Given the description of an element on the screen output the (x, y) to click on. 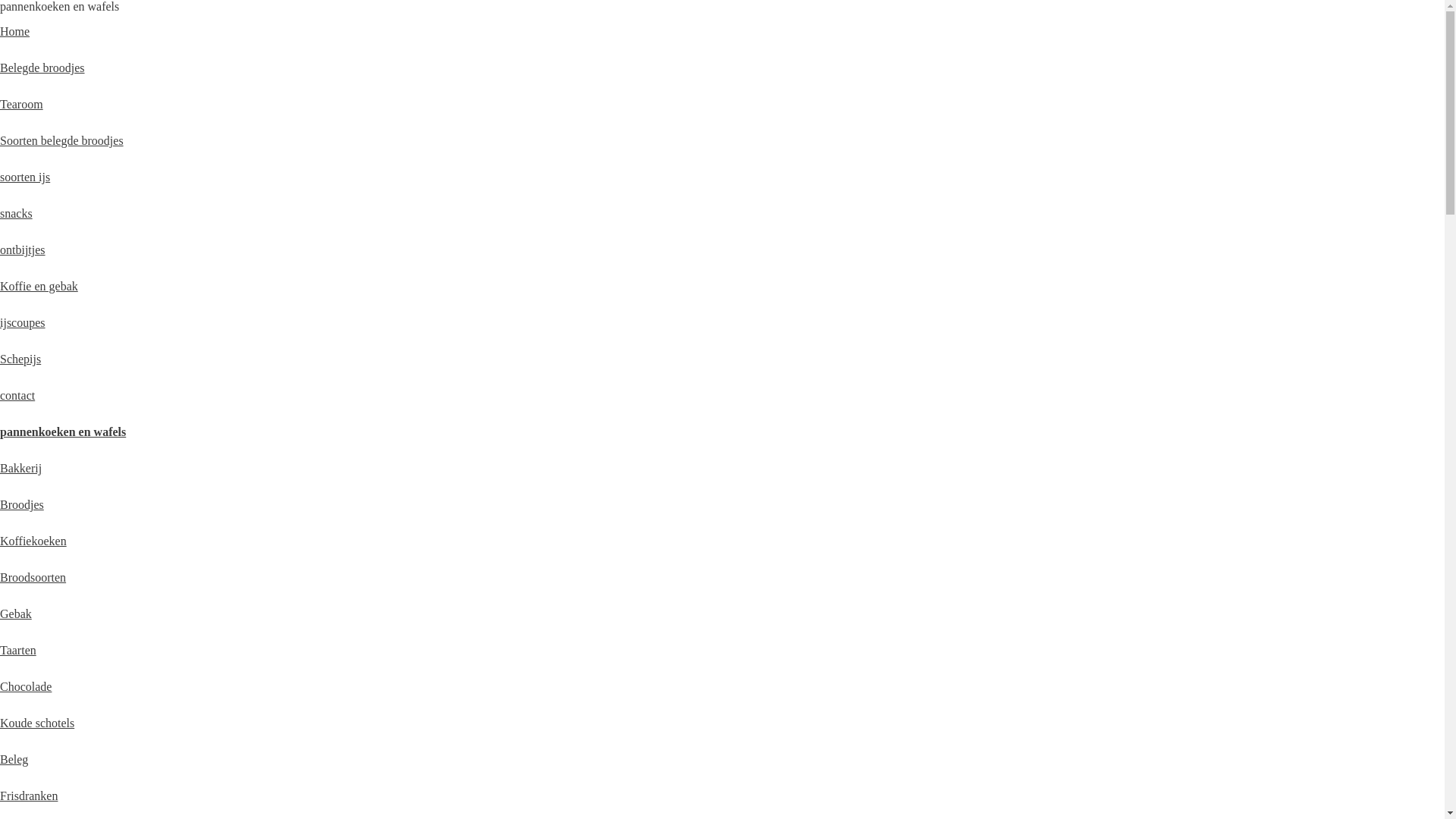
Beleg Element type: text (14, 759)
Belegde broodjes Element type: text (42, 67)
Chocolade Element type: text (25, 686)
Tearoom Element type: text (21, 103)
pannenkoeken en wafels Element type: text (62, 431)
ijscoupes Element type: text (22, 322)
Bakkerij Element type: text (20, 467)
Koffie en gebak Element type: text (39, 285)
Taarten Element type: text (18, 649)
soorten ijs Element type: text (25, 176)
Soorten belegde broodjes Element type: text (61, 140)
contact Element type: text (17, 395)
snacks Element type: text (16, 213)
Koude schotels Element type: text (37, 722)
ontbijtjes Element type: text (22, 249)
Frisdranken Element type: text (28, 795)
Gebak Element type: text (15, 613)
Broodsoorten Element type: text (32, 577)
Schepijs Element type: text (20, 358)
Home Element type: text (14, 31)
Broodjes Element type: text (21, 504)
Koffiekoeken Element type: text (33, 540)
